Given the description of an element on the screen output the (x, y) to click on. 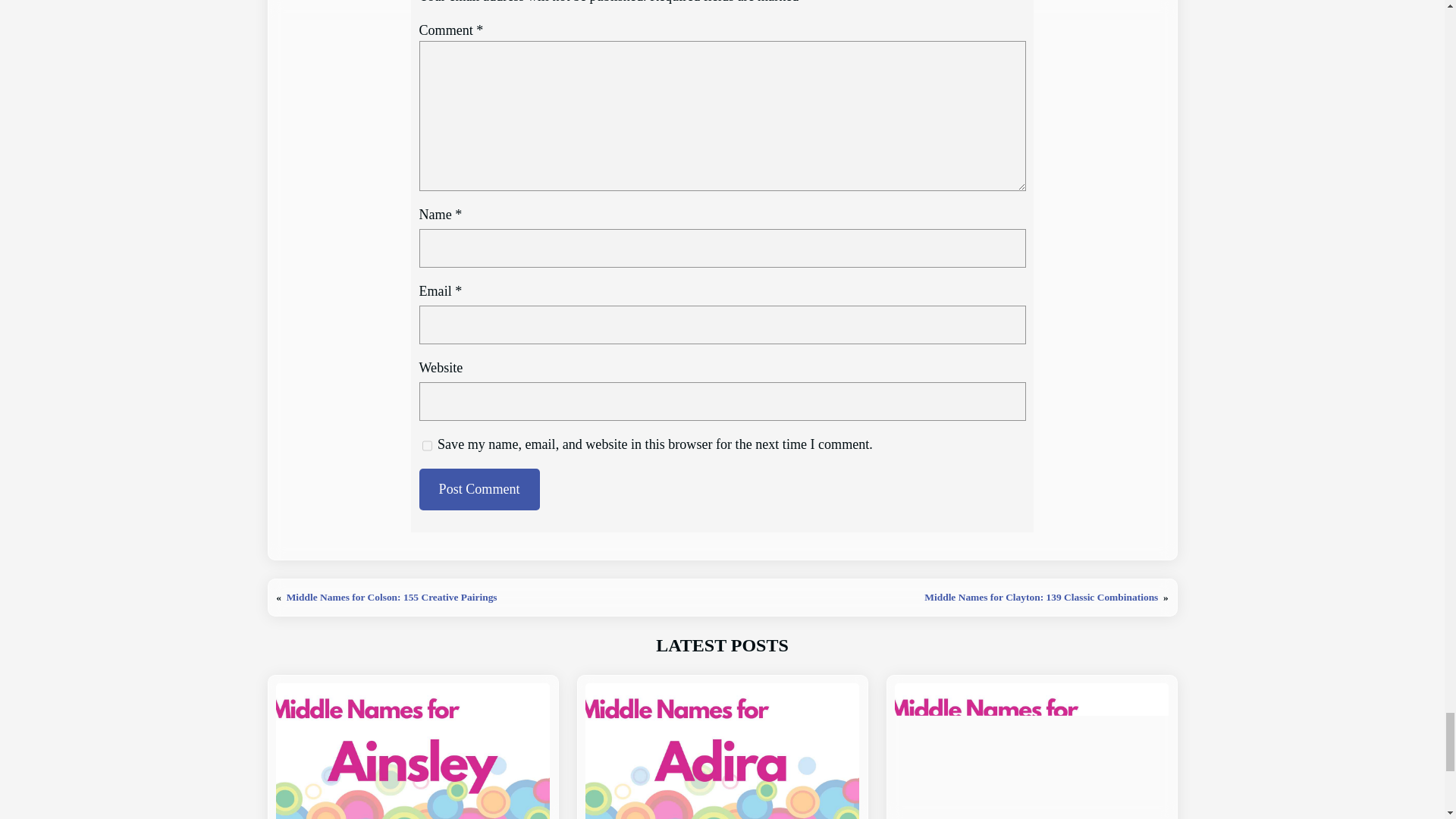
Middle Names for Colson: 155 Creative Pairings (391, 596)
Post Comment (478, 489)
Middle Names for Clayton: 139 Classic Combinations (1040, 596)
Post Comment (478, 489)
